Given the description of an element on the screen output the (x, y) to click on. 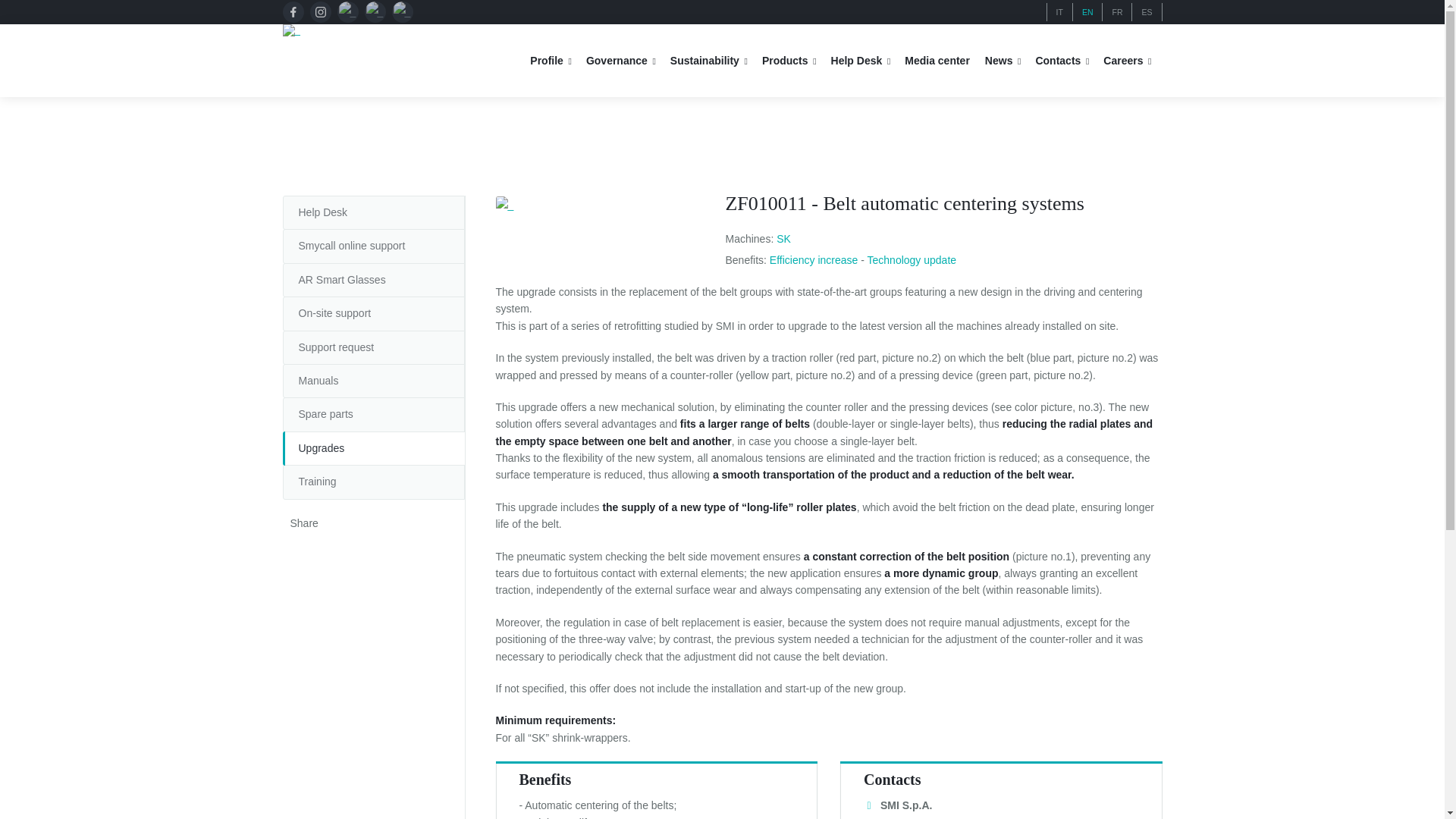
Products (792, 60)
EN (1087, 11)
FR (1117, 11)
Sustainability (712, 60)
Governance (624, 60)
ES (1146, 11)
